Given the description of an element on the screen output the (x, y) to click on. 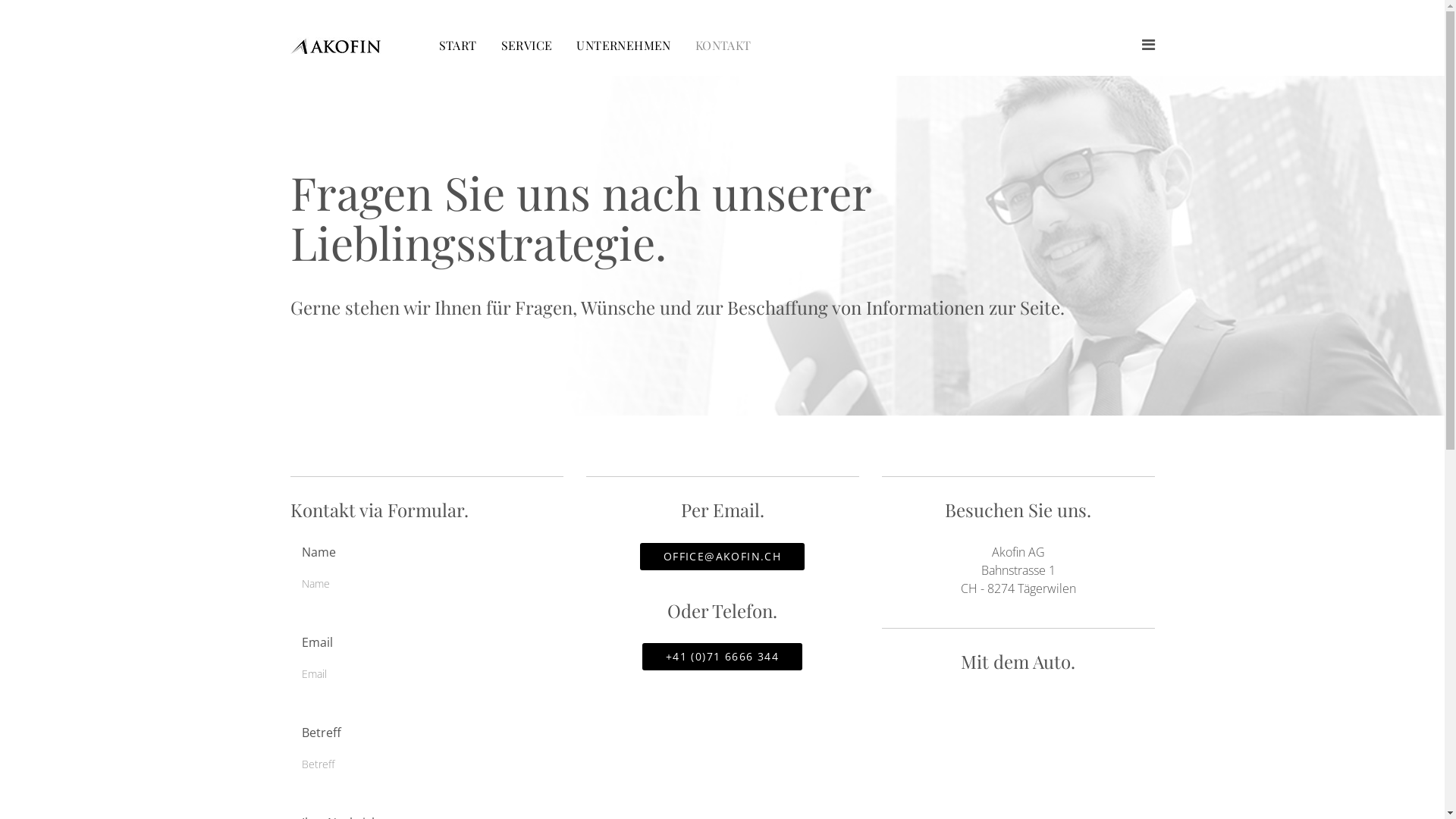
UNTERNEHMEN Element type: text (623, 45)
+41 (0)71 6666 344 Element type: text (722, 656)
OFFICE@AKOFIN.CH Element type: text (722, 556)
SERVICE Element type: text (526, 45)
KONTAKT Element type: text (723, 45)
START Element type: text (457, 45)
